Given the description of an element on the screen output the (x, y) to click on. 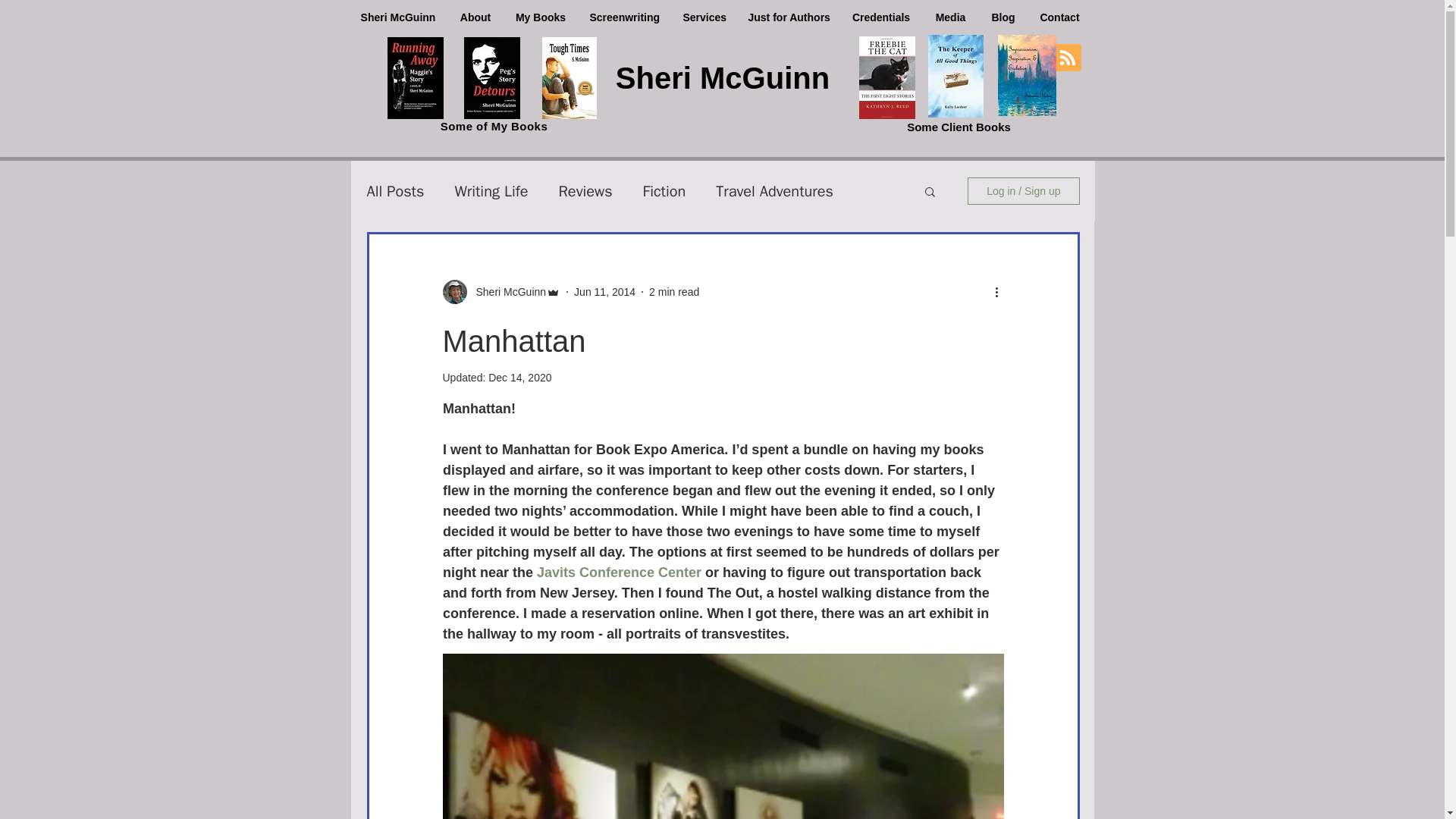
2 min read (673, 291)
Blog (1002, 17)
Contact (1058, 17)
Dec 14, 2020 (519, 377)
Sheri McGuinn (397, 17)
Just for Authors (787, 17)
Screenwriting (624, 17)
Sheri McGuinn (507, 291)
All Posts (395, 190)
Javits Conference Center (619, 572)
